Given the description of an element on the screen output the (x, y) to click on. 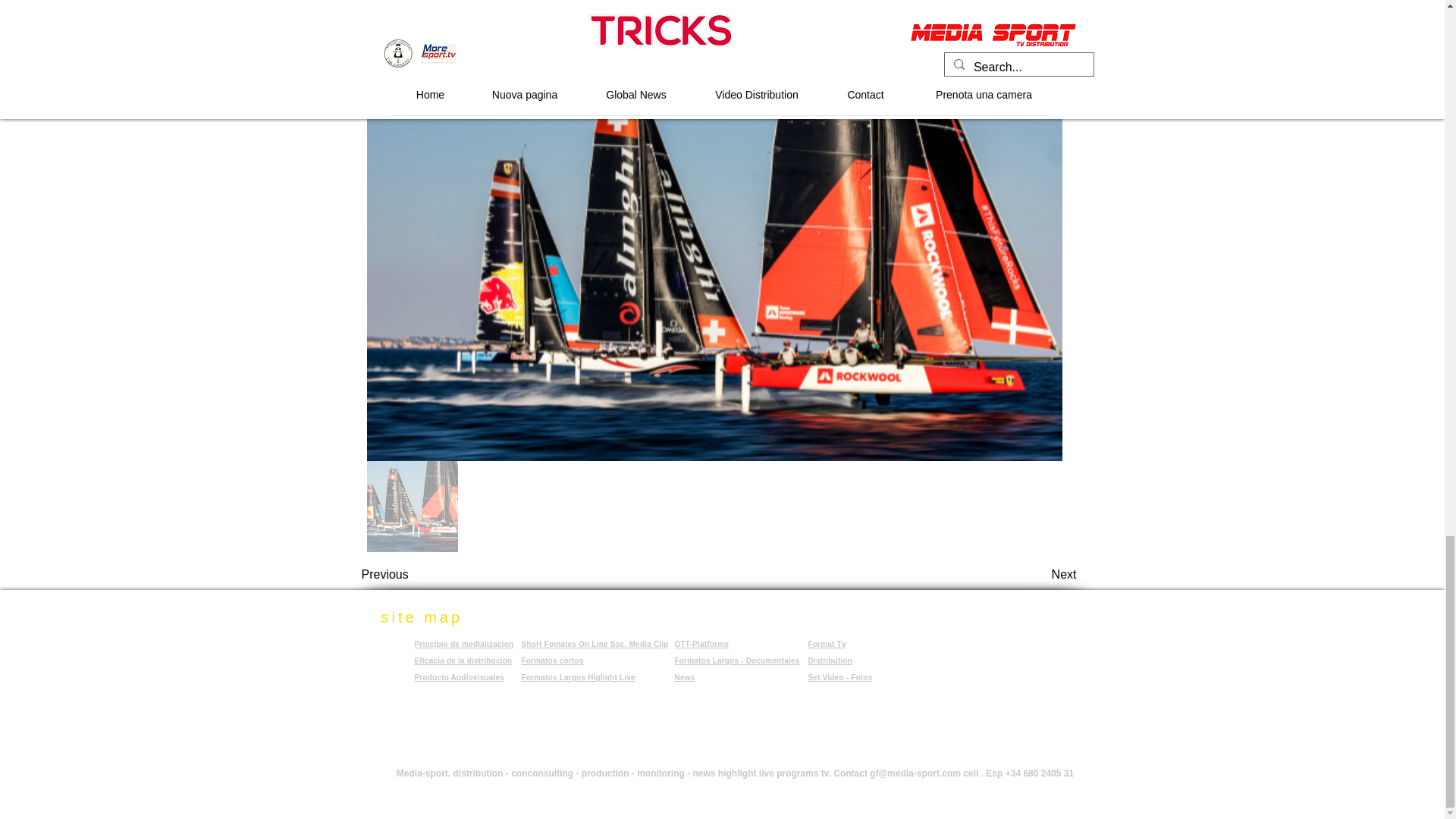
News (685, 677)
Formatos Largos - Documentales (737, 664)
Producto Audiovisuales (458, 677)
Eficacia de la distribucion (462, 660)
Principio de medializacion (463, 643)
Formatos cortos (552, 660)
OTT-Platforms (702, 643)
Previous (411, 574)
Format Tv (826, 643)
Formatos Largos Higlight Live (577, 677)
Short Fomates On Line Soc. Media Clip (594, 643)
Next (1039, 574)
